Given the description of an element on the screen output the (x, y) to click on. 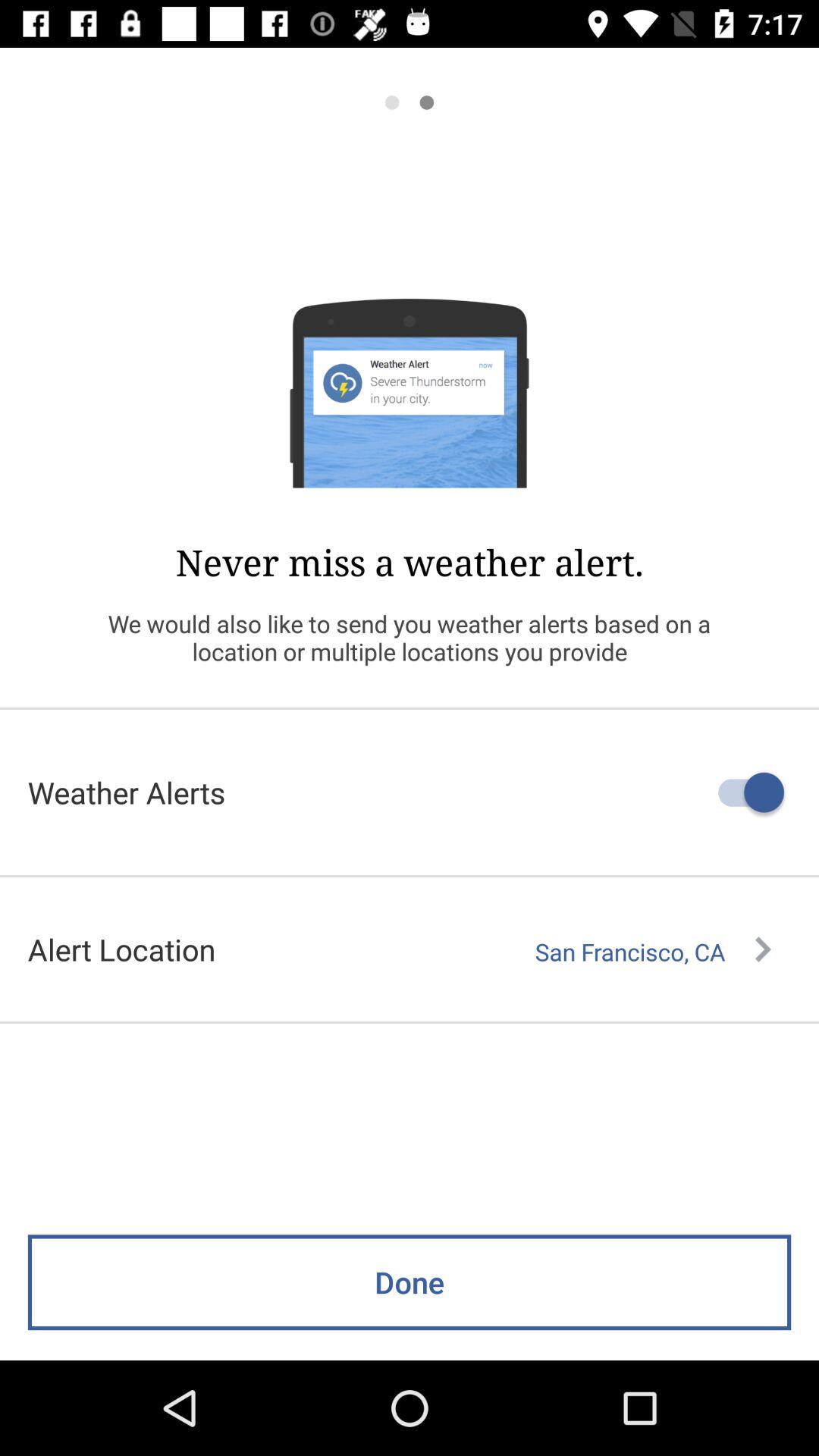
flip until the done icon (409, 1282)
